Given the description of an element on the screen output the (x, y) to click on. 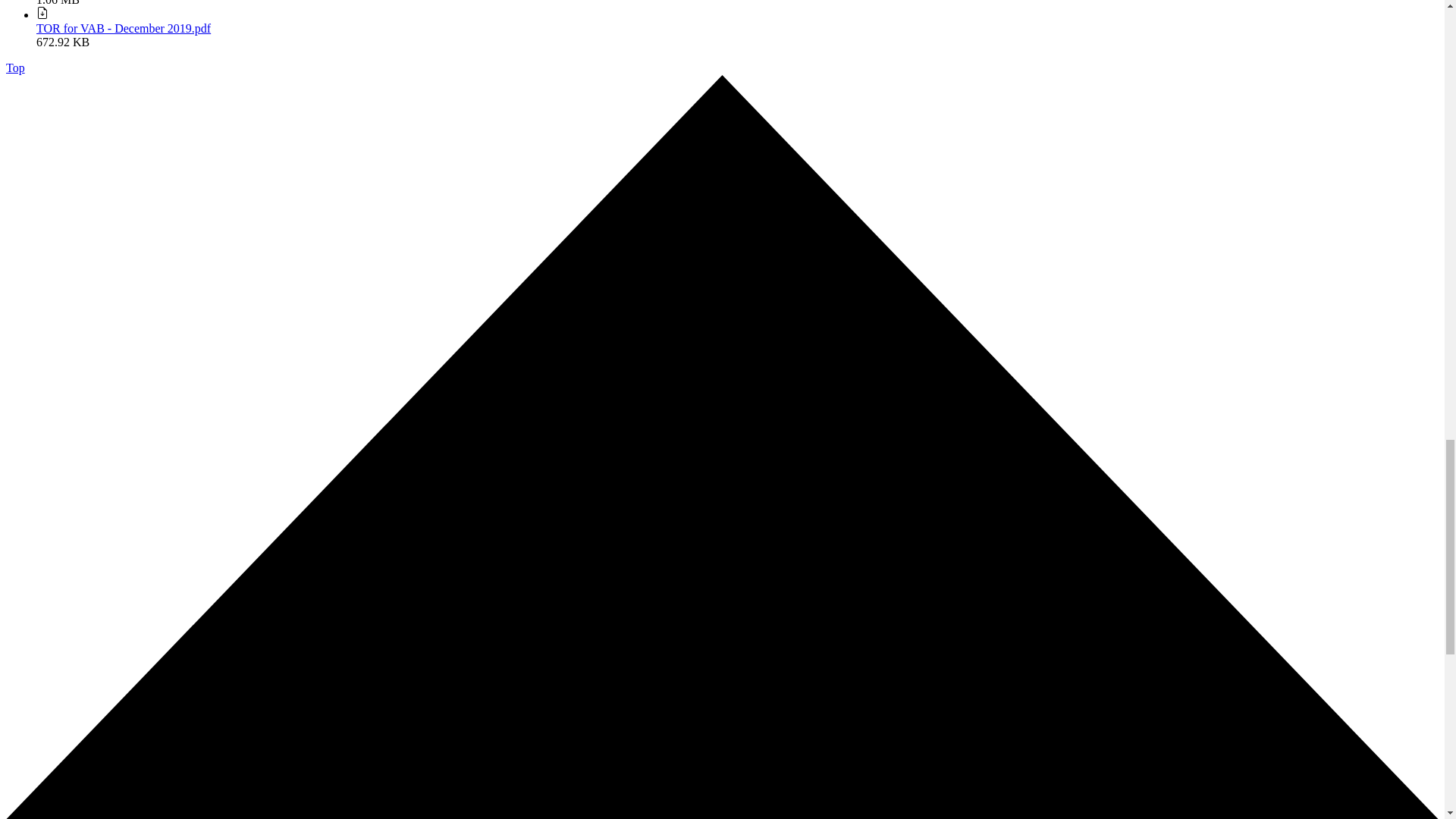
TOR for VAB - December 2019.pdf (123, 28)
Open file in new window (123, 28)
